Given the description of an element on the screen output the (x, y) to click on. 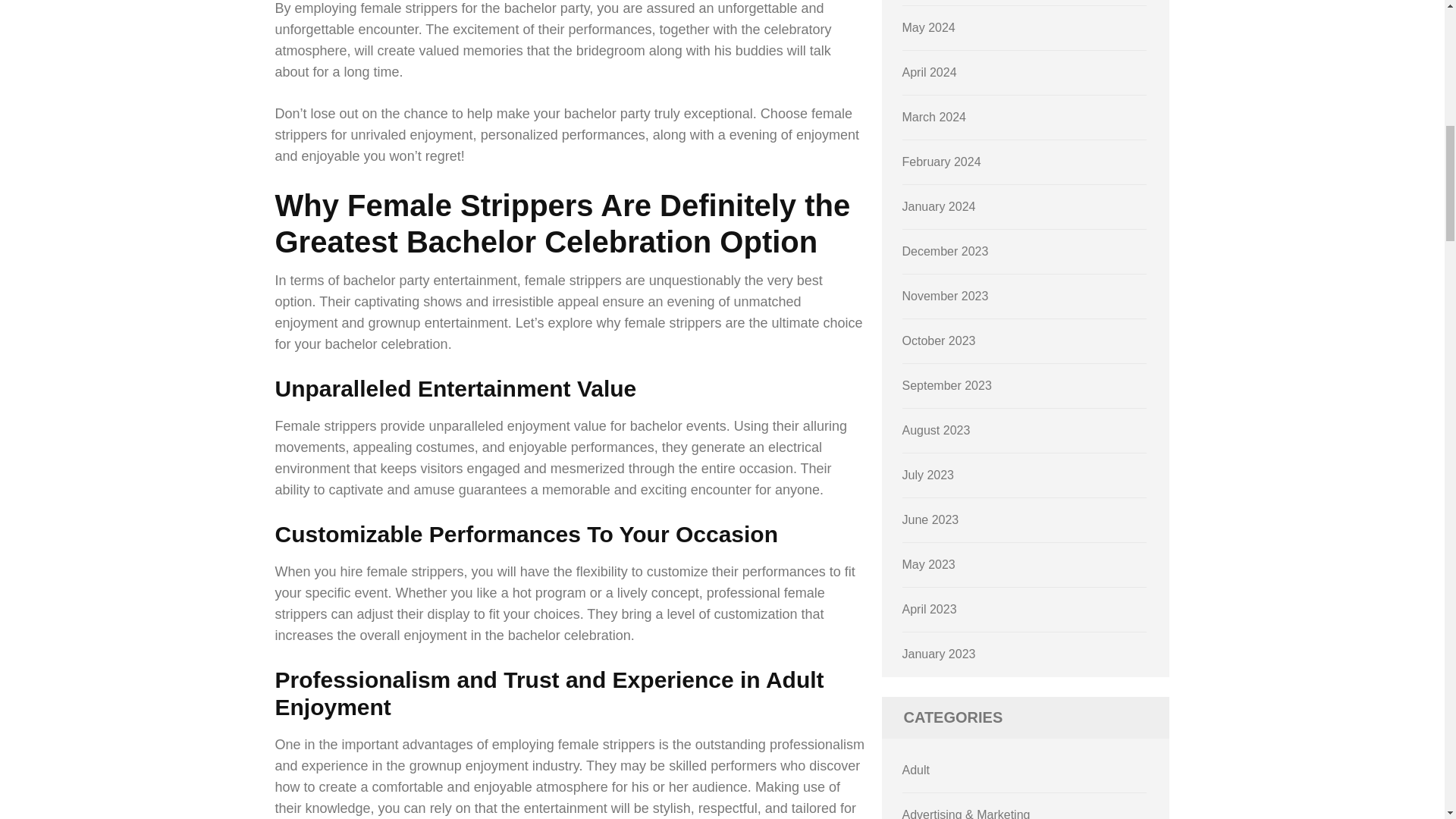
July 2023 (928, 474)
November 2023 (945, 295)
June 2023 (930, 519)
October 2023 (938, 340)
February 2024 (941, 161)
December 2023 (945, 250)
May 2023 (928, 563)
September 2023 (946, 385)
May 2024 (928, 27)
April 2023 (929, 608)
